Given the description of an element on the screen output the (x, y) to click on. 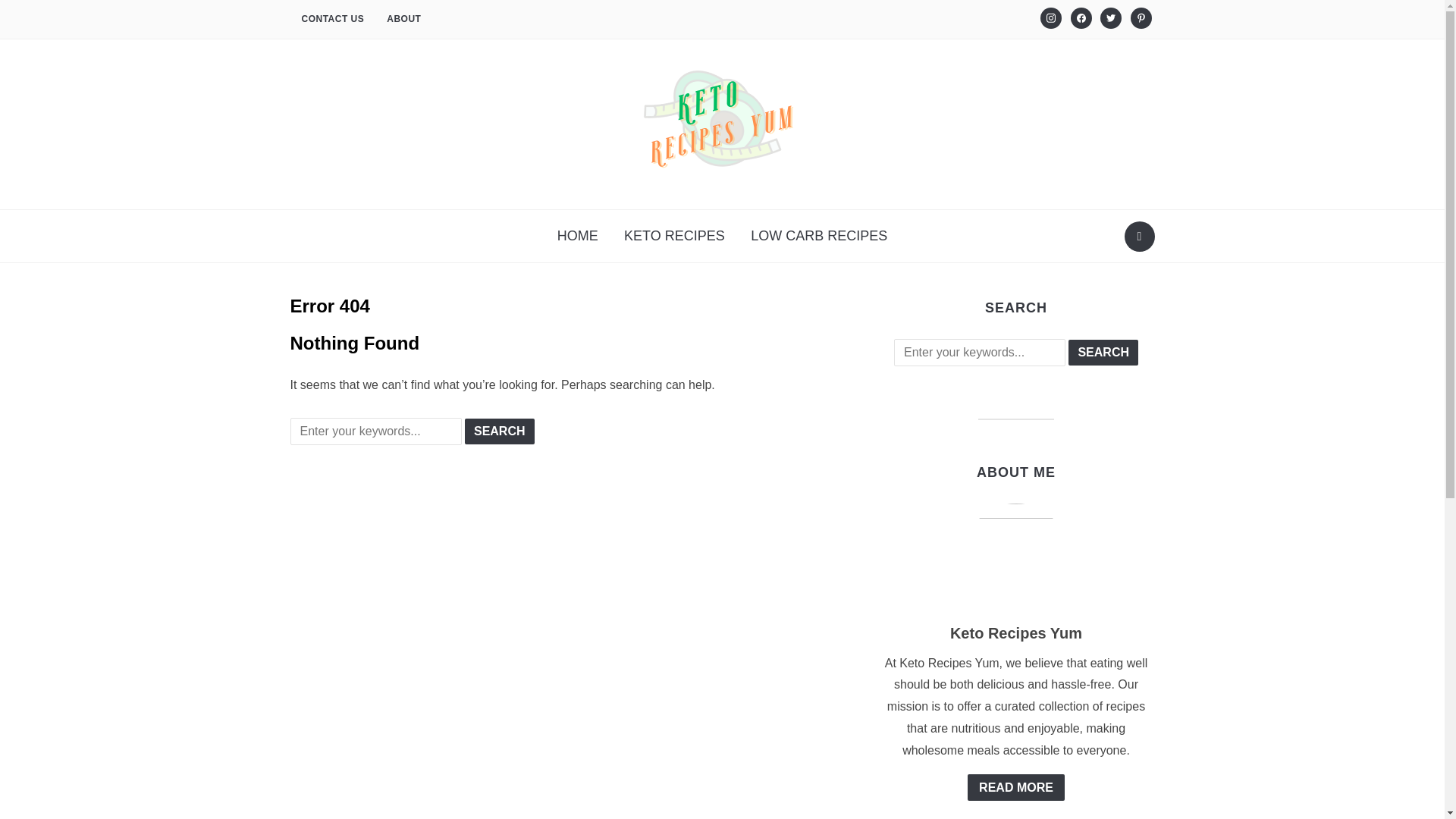
instagram (1051, 17)
Search (1050, 17)
twitter (1110, 17)
Search (1139, 236)
Search (1110, 17)
KETO RECIPES (1103, 352)
CONTACT US (499, 431)
Search (674, 235)
Search (332, 19)
ABOUT (1103, 352)
Search (499, 431)
READ MORE (403, 19)
